Given the description of an element on the screen output the (x, y) to click on. 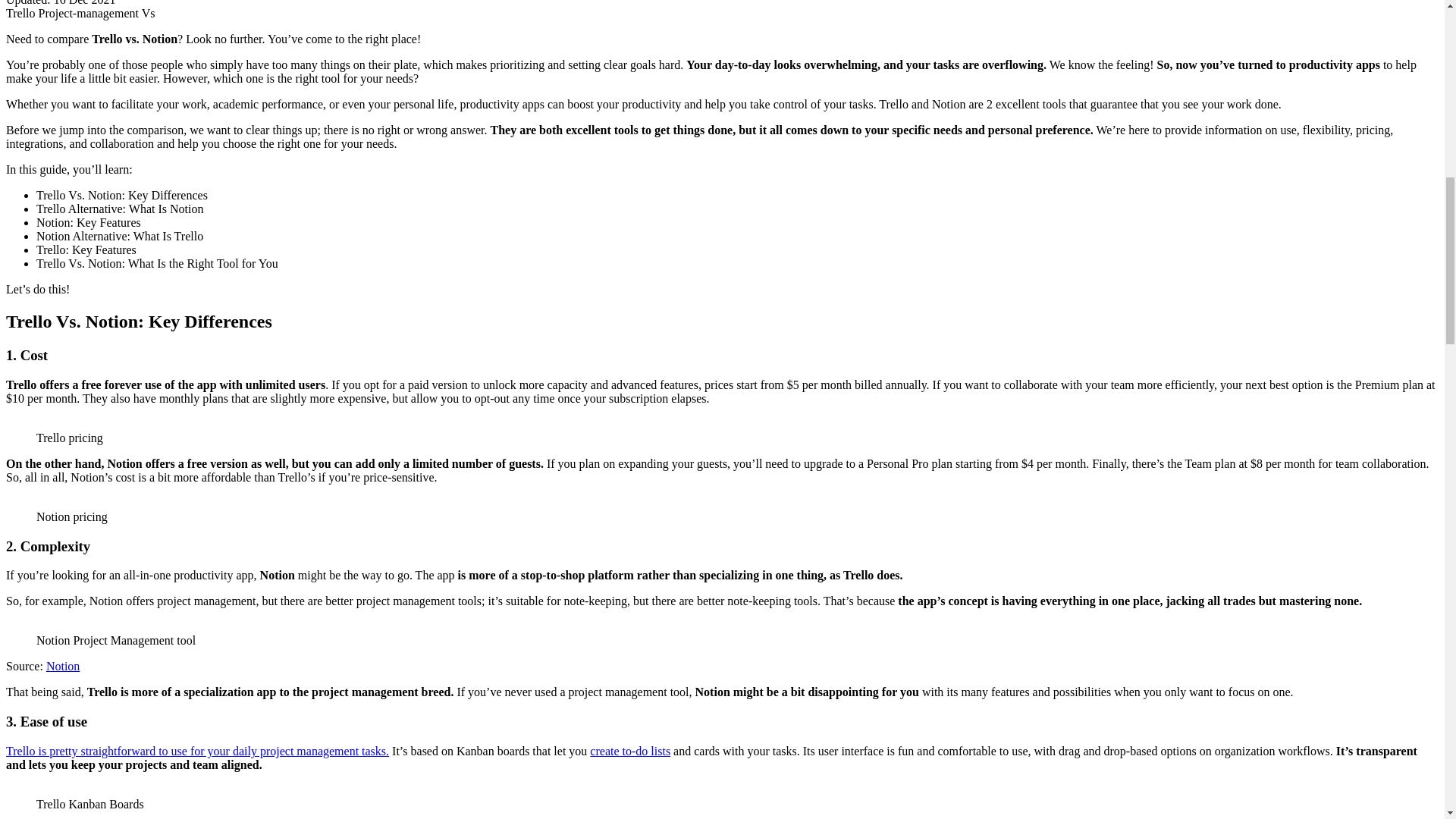
Notion (63, 666)
create to-do lists (629, 750)
